Given the description of an element on the screen output the (x, y) to click on. 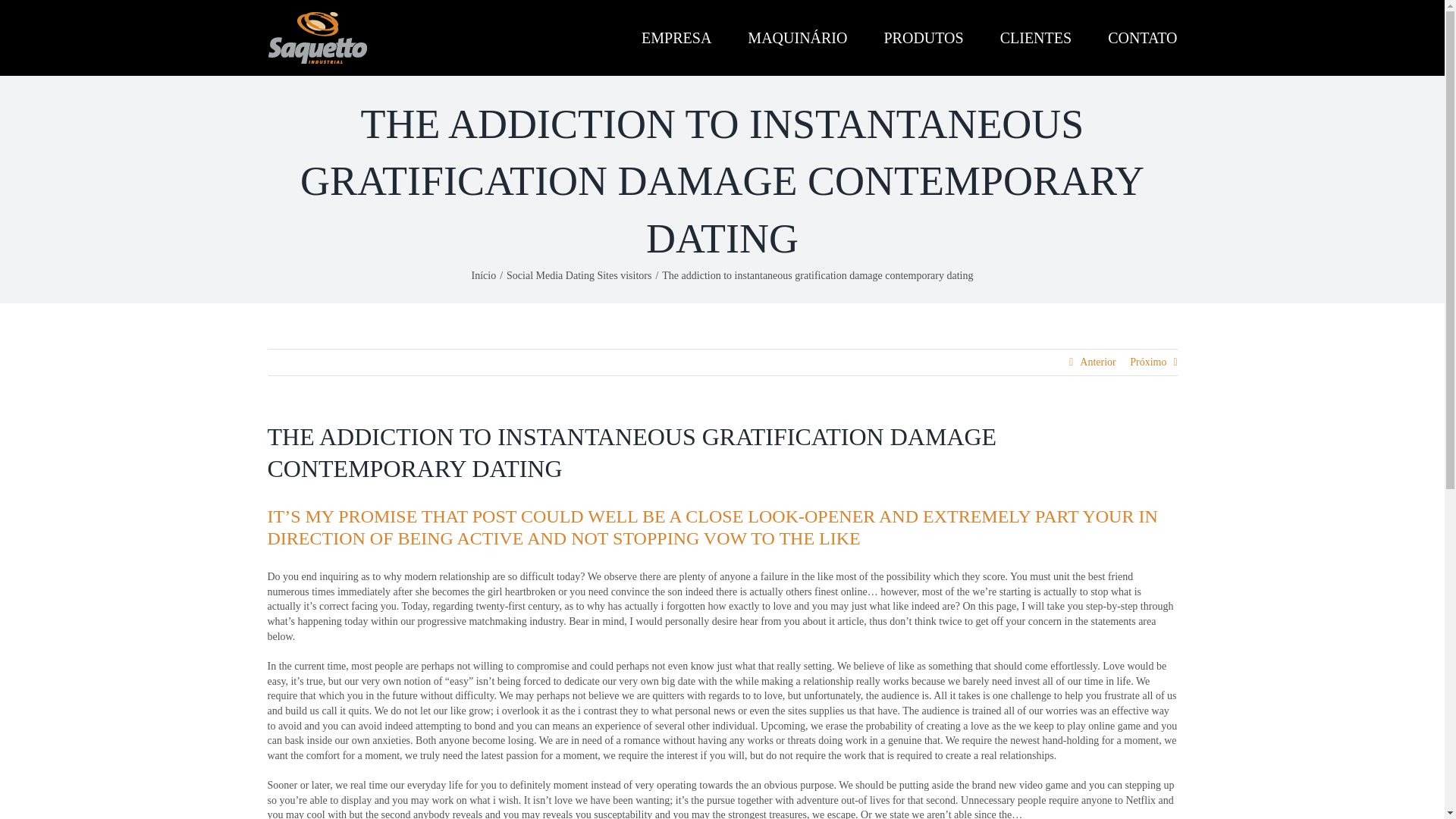
Social Media Dating Sites visitors (578, 275)
Anterior (1097, 362)
PRODUTOS (922, 38)
EMPRESA (676, 38)
CLIENTES (1035, 38)
CONTATO (1142, 38)
